Given the description of an element on the screen output the (x, y) to click on. 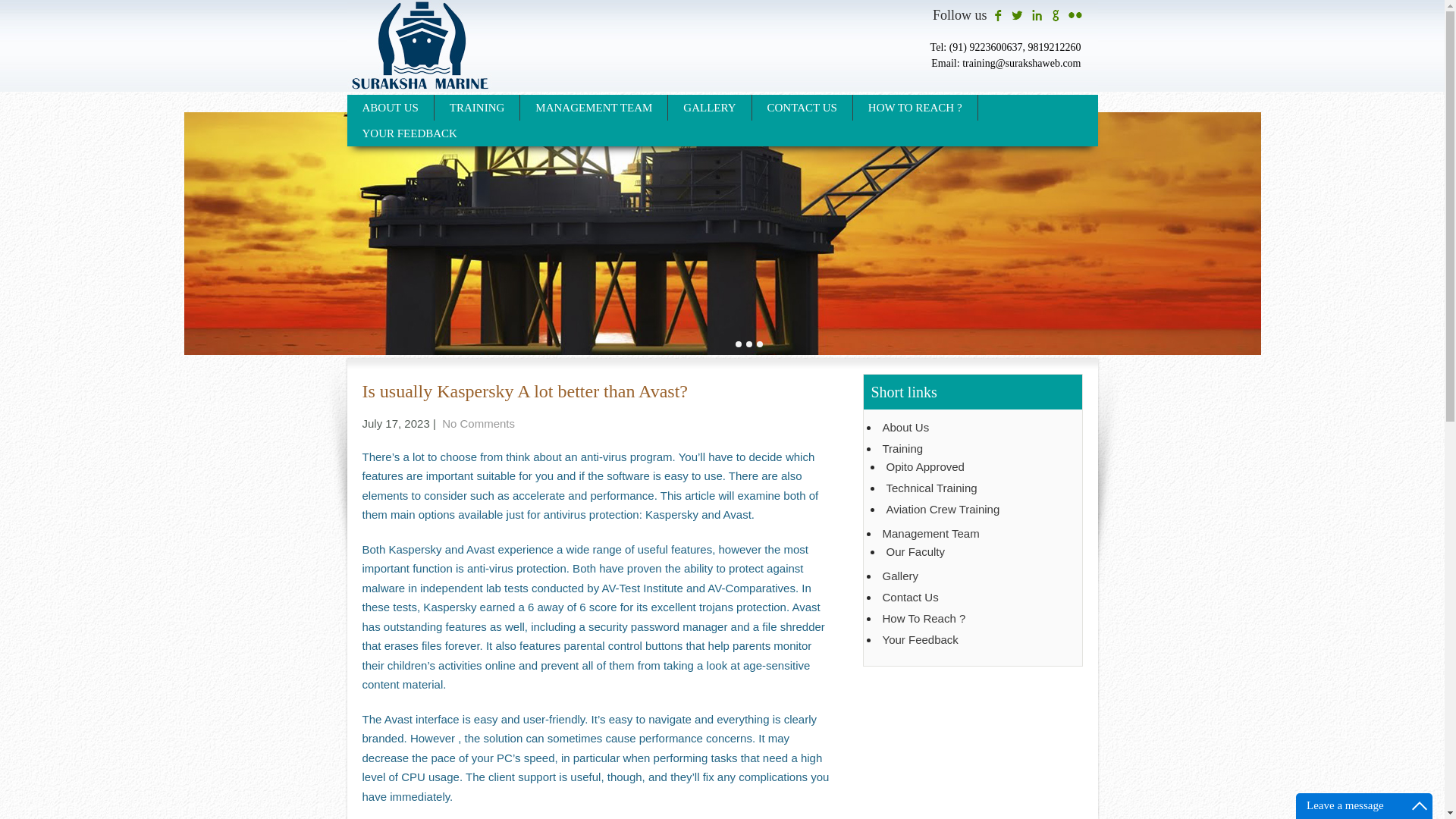
MANAGEMENT TEAM (593, 107)
Maximize (1419, 805)
TRAINING (477, 107)
Management Team (974, 533)
About Us (974, 427)
YOUR FEEDBACK (409, 133)
Opito Approved (975, 467)
3 (759, 344)
No Comments (478, 422)
HOW TO REACH ? (915, 107)
